Given the description of an element on the screen output the (x, y) to click on. 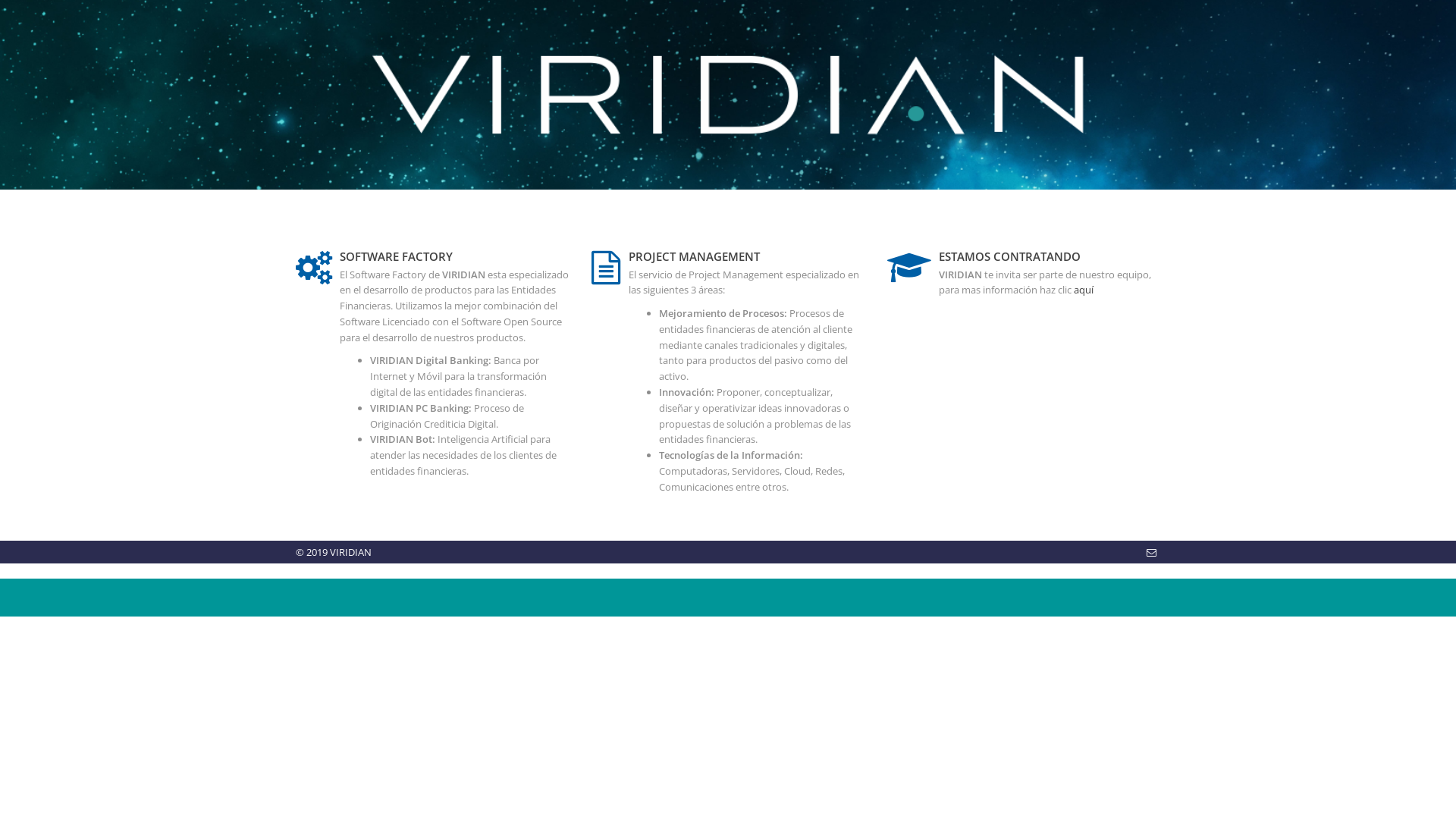
ESTAMOS CONTRATANDO Element type: text (1009, 255)
